Given the description of an element on the screen output the (x, y) to click on. 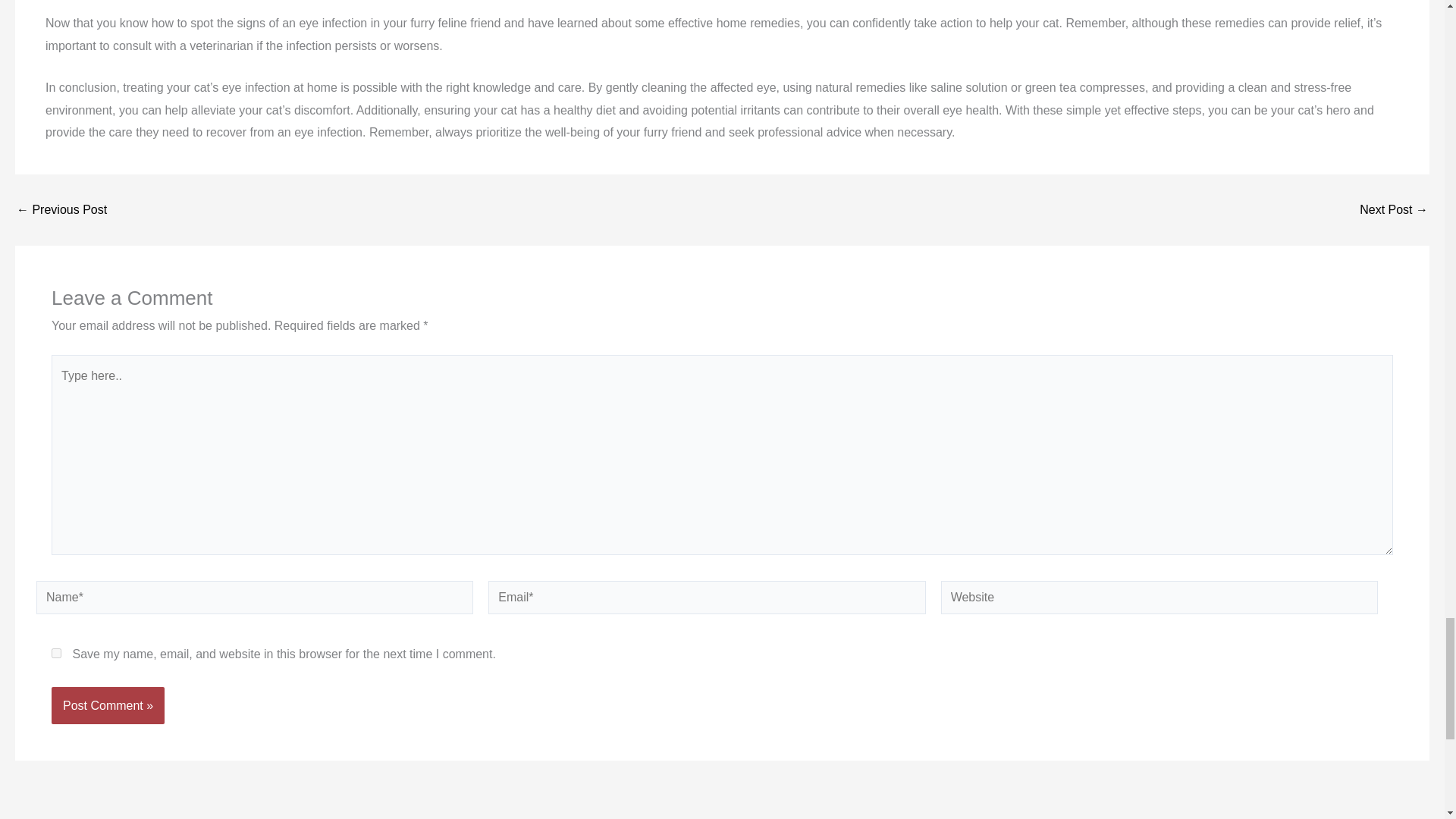
Can Goats Eat Chicken Feed? (1393, 209)
How Do Snakes Get Their Food? (61, 209)
yes (55, 653)
